Given the description of an element on the screen output the (x, y) to click on. 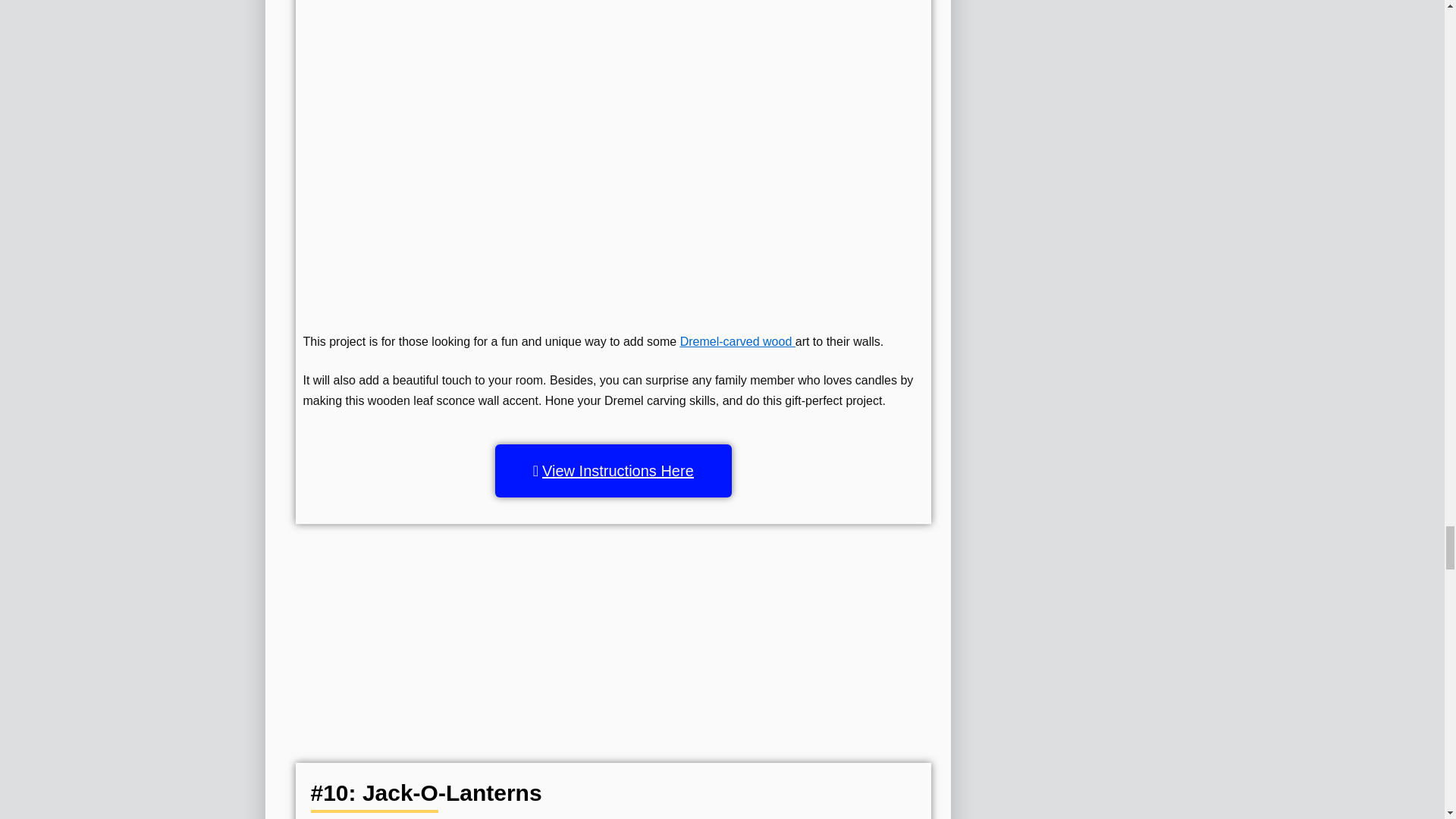
Wooden Leaf Sconce Pattern (613, 55)
Dremel-carved wood (736, 341)
View Instructions Here (613, 470)
